Given the description of an element on the screen output the (x, y) to click on. 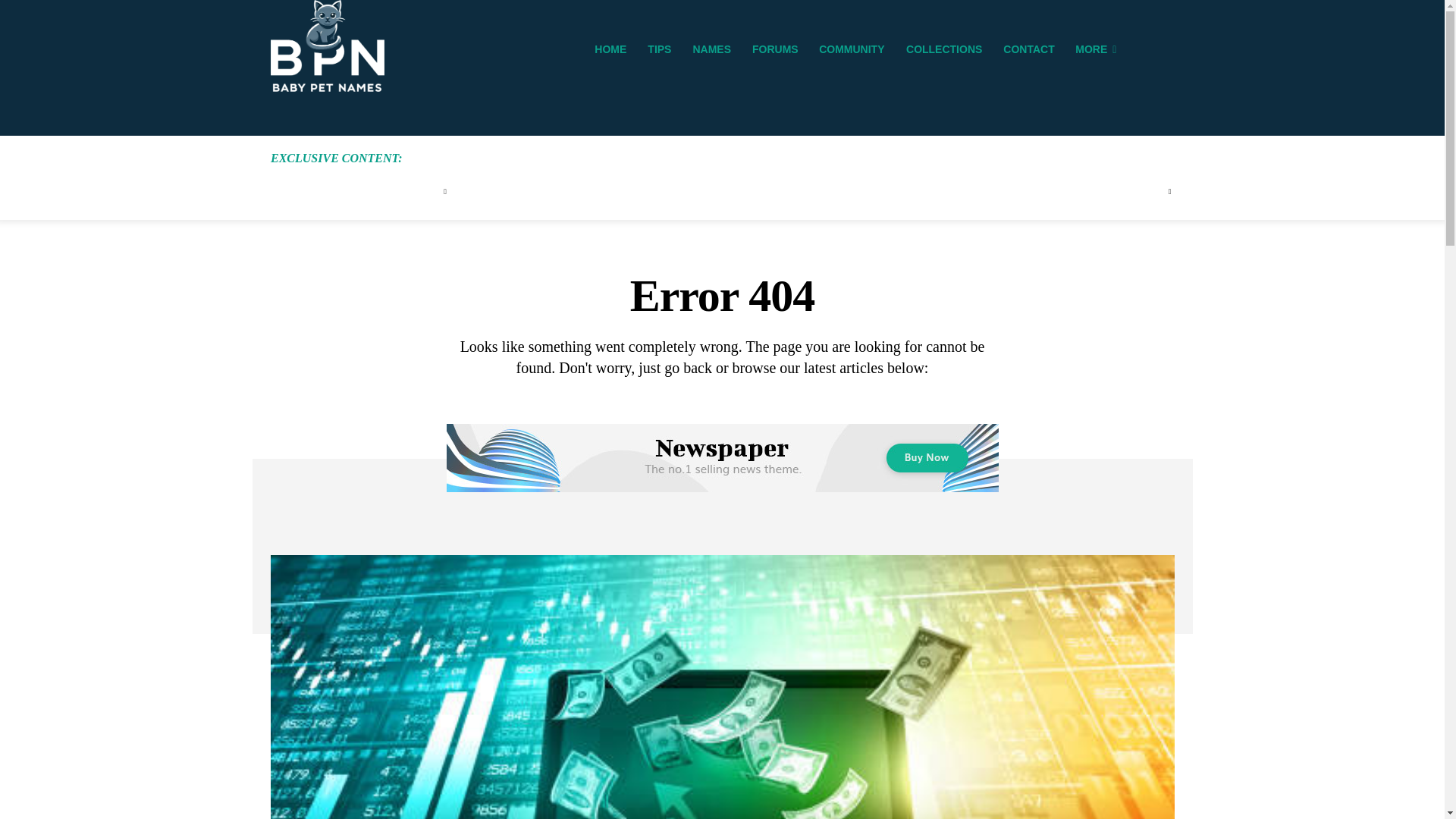
COLLECTIONS (943, 49)
HOME (610, 49)
CONTACT (1028, 49)
COMMUNITY (851, 49)
NAMES (711, 49)
FORUMS (775, 49)
TIPS (659, 49)
MORE (1095, 49)
